Given the description of an element on the screen output the (x, y) to click on. 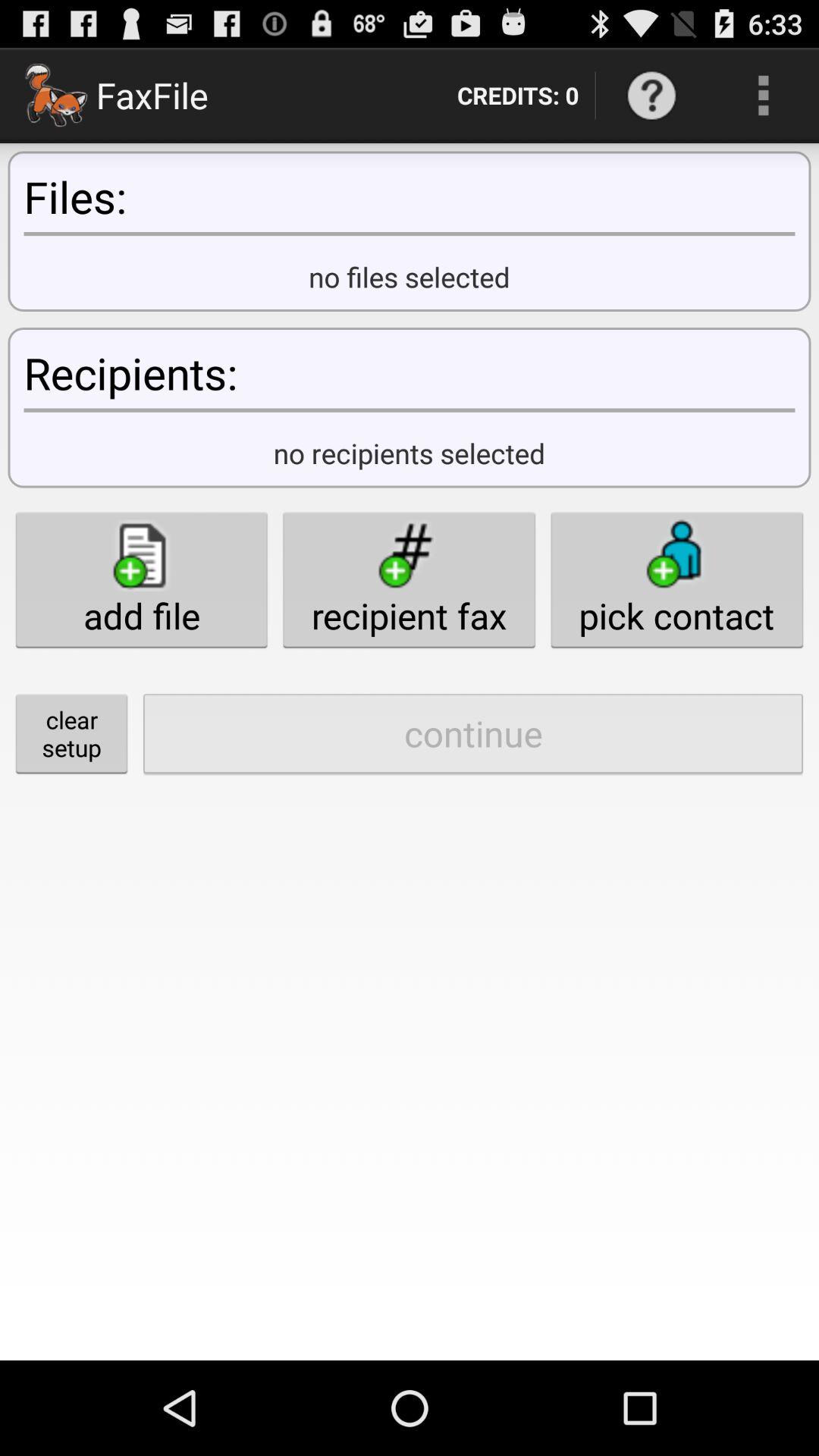
select the item below no recipients selected app (409, 579)
